Given the description of an element on the screen output the (x, y) to click on. 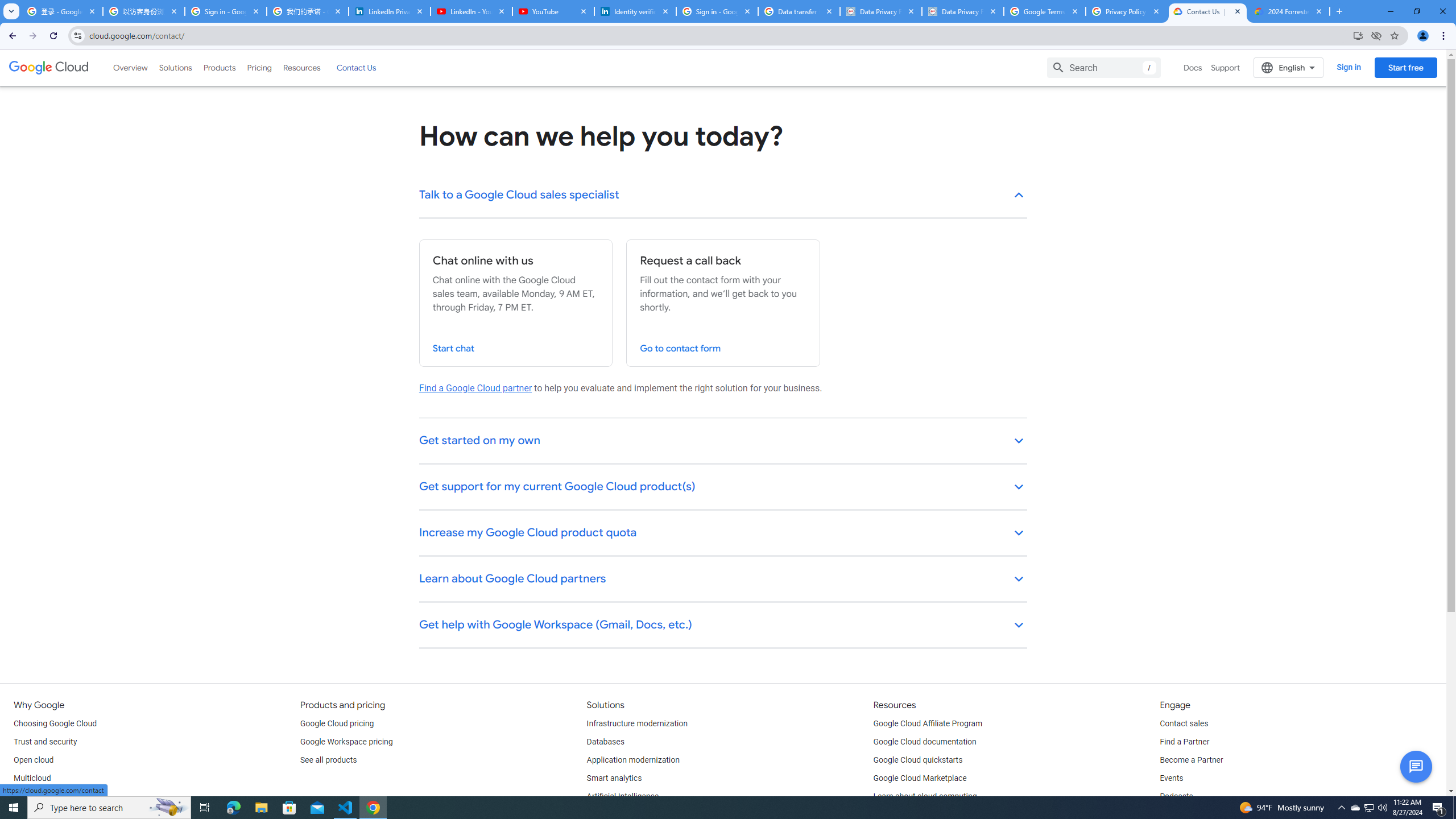
Contact sales (1183, 723)
Resources (301, 67)
Google Cloud pricing (336, 723)
Find a Partner (1183, 742)
Sign in - Google Accounts (225, 11)
Application modernization (632, 760)
Events (1170, 778)
